Given the description of an element on the screen output the (x, y) to click on. 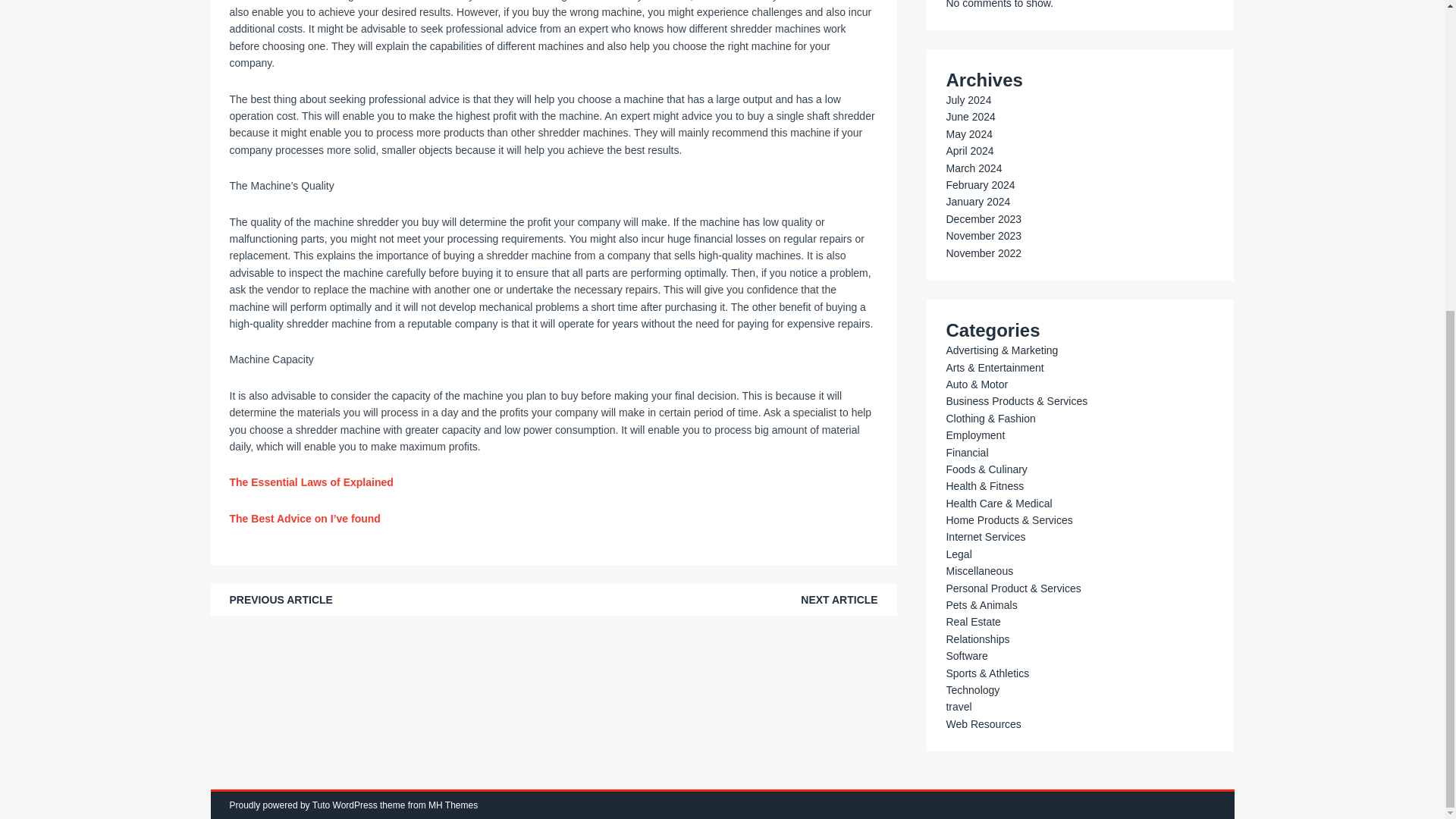
June 2024 (969, 116)
February 2024 (979, 184)
May 2024 (967, 133)
The Essential Laws of Explained (310, 481)
December 2023 (983, 218)
March 2024 (972, 168)
November 2023 (983, 235)
NEXT ARTICLE (838, 599)
PREVIOUS ARTICLE (279, 599)
November 2022 (983, 253)
July 2024 (967, 100)
Employment (974, 435)
January 2024 (977, 201)
April 2024 (968, 150)
Financial (966, 452)
